Given the description of an element on the screen output the (x, y) to click on. 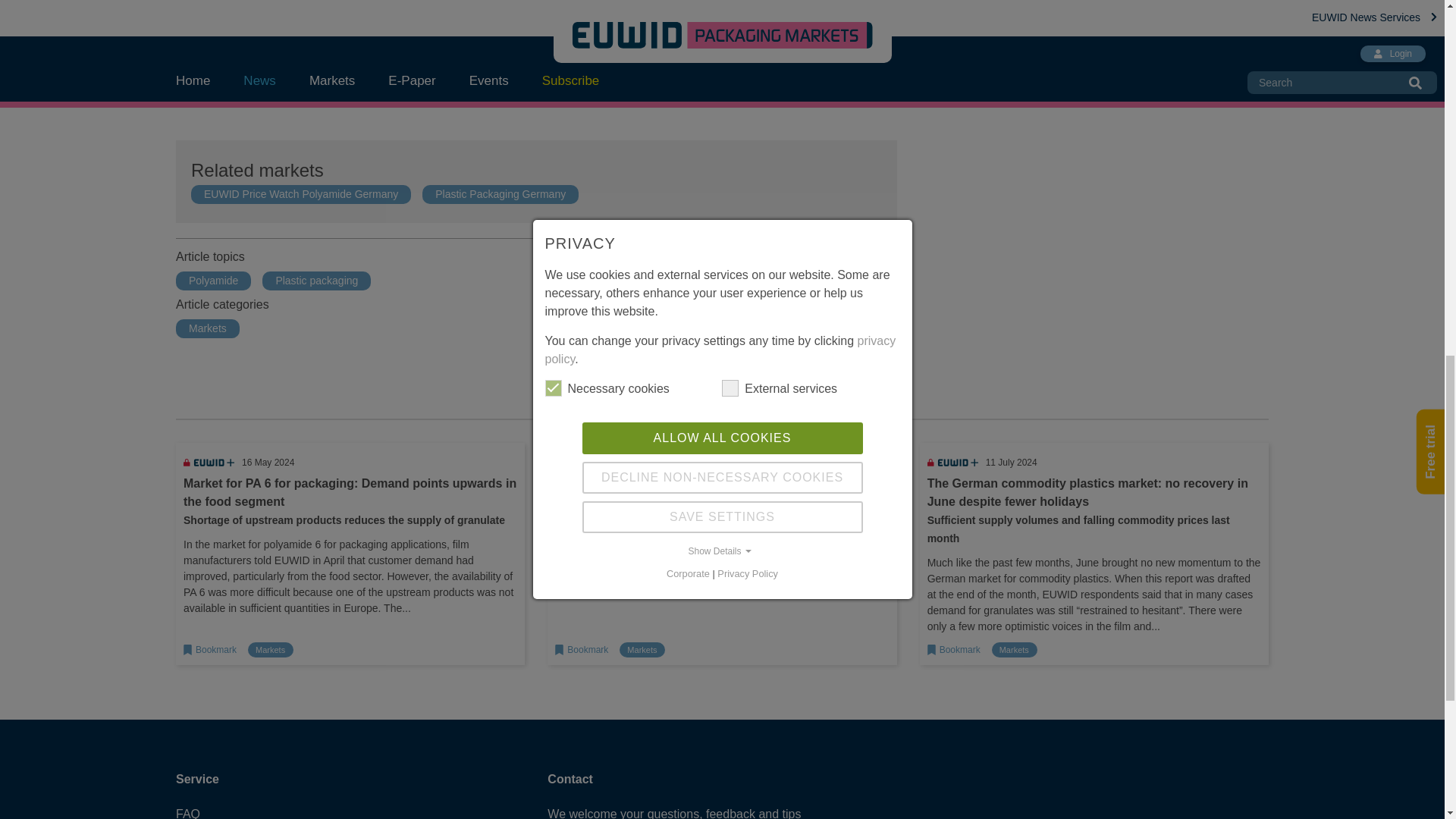
Markets (208, 328)
Markets (270, 650)
EUWID Price Watch Polyamide Germany (300, 193)
Plastic Packaging Germany (500, 193)
Plastic packaging (316, 280)
Markets (642, 650)
FAQ (226, 812)
Polyamide (213, 280)
